Given the description of an element on the screen output the (x, y) to click on. 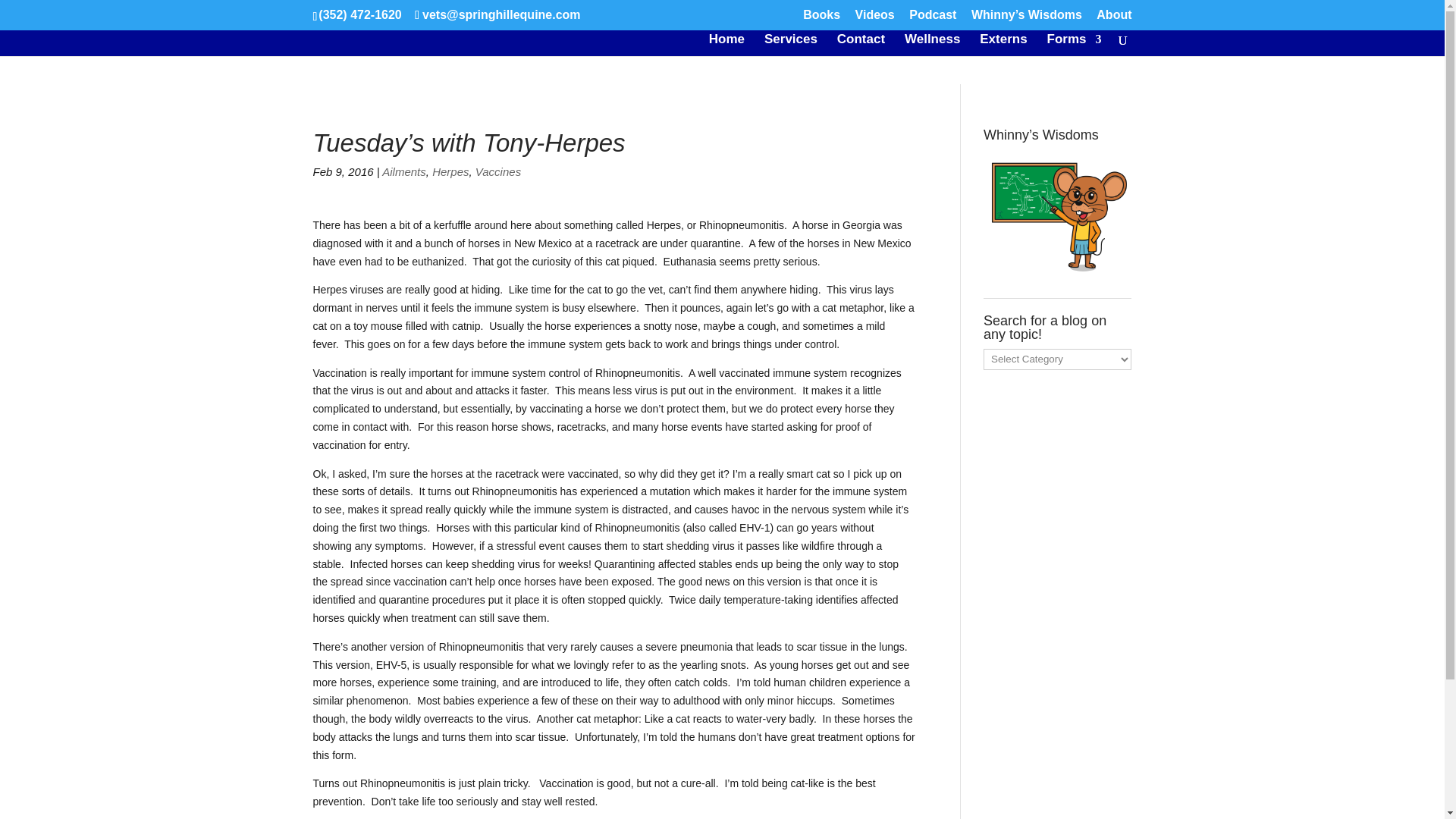
Podcast (932, 19)
Services (790, 45)
Externs (1002, 45)
Books (821, 19)
Vaccines (498, 171)
About (1113, 19)
Videos (875, 19)
Home (726, 45)
Herpes (450, 171)
Forms (1074, 45)
